Given the description of an element on the screen output the (x, y) to click on. 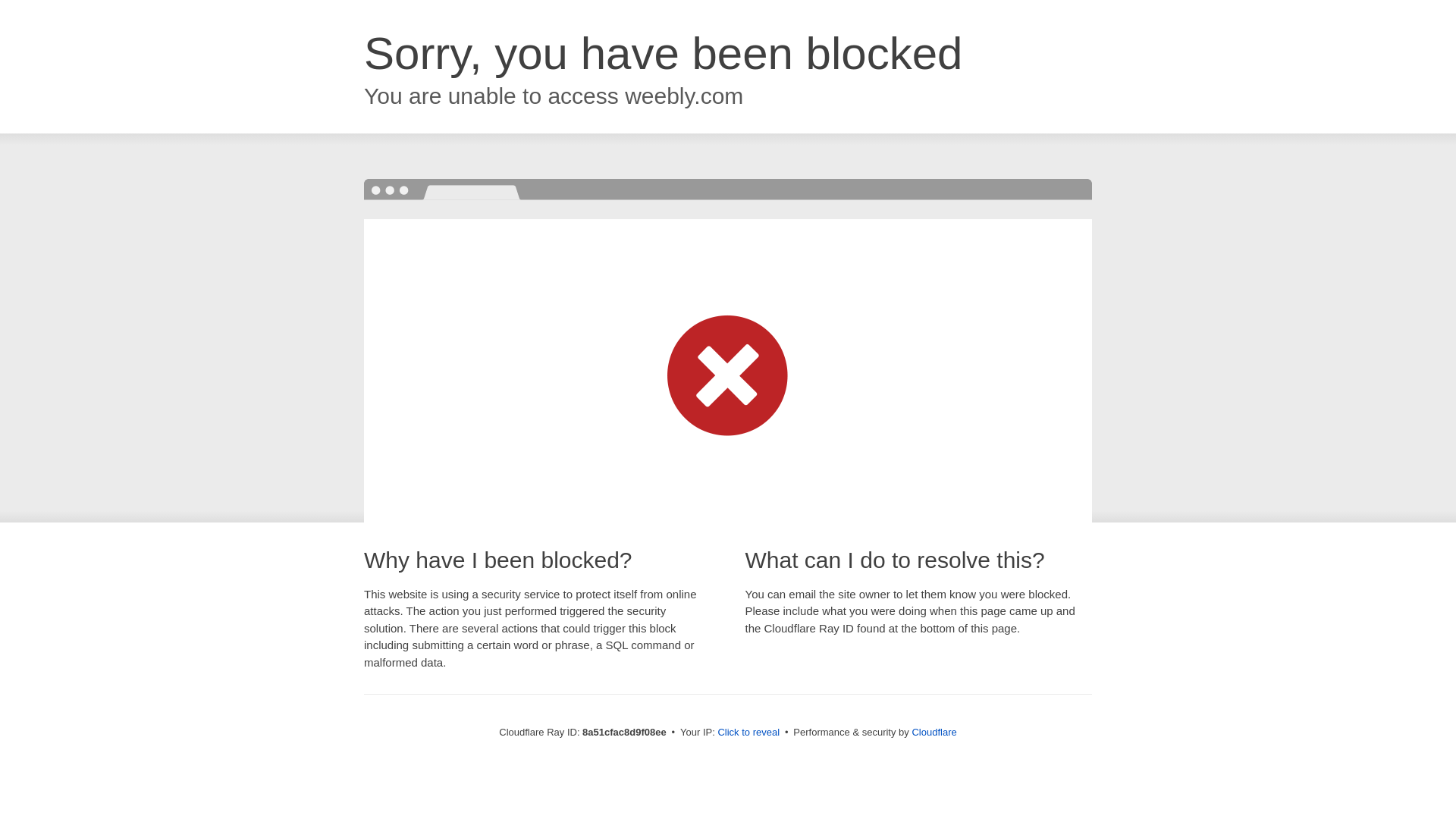
Click to reveal (747, 732)
Cloudflare (933, 731)
